Given the description of an element on the screen output the (x, y) to click on. 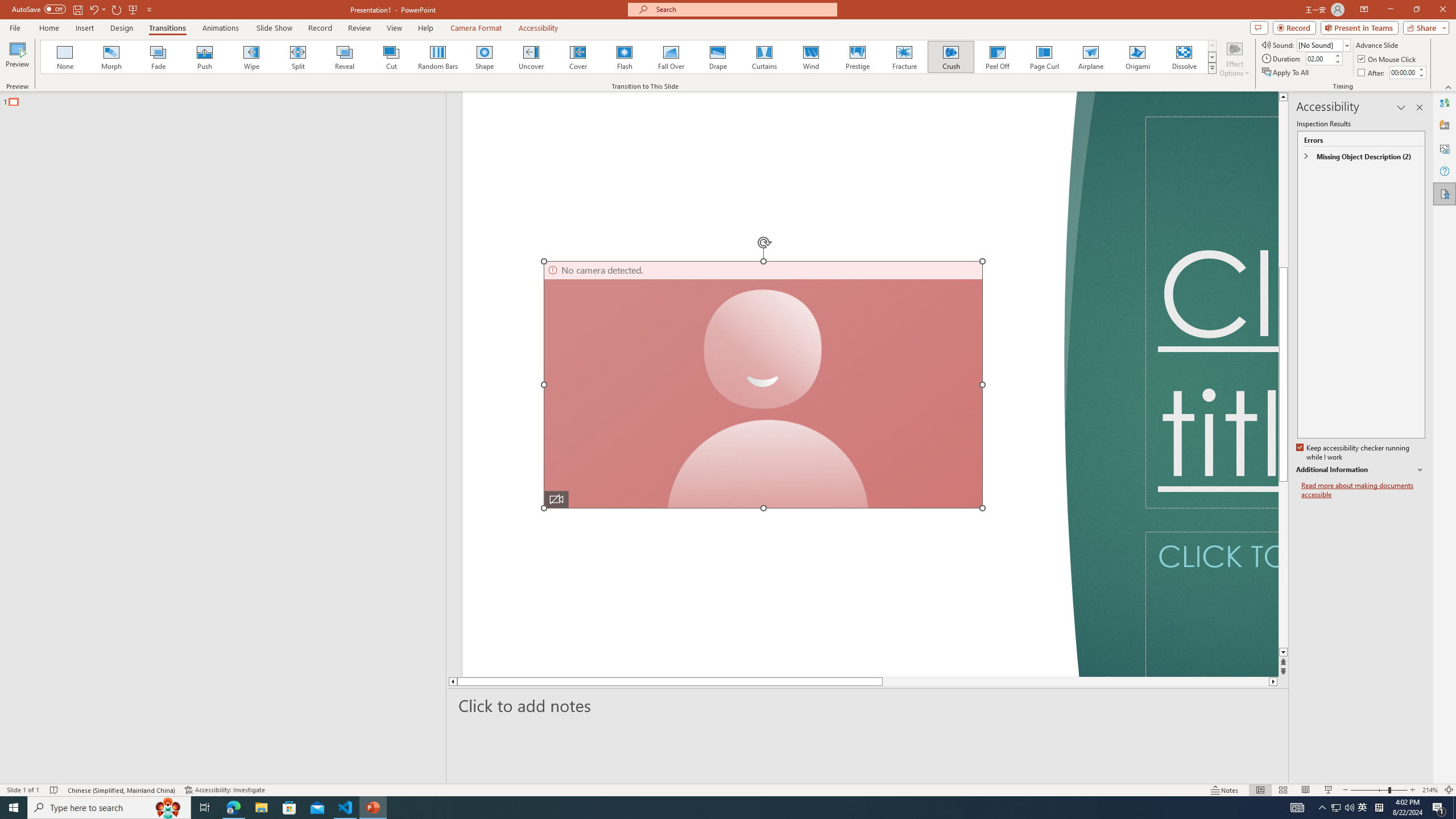
Sound (1324, 44)
Origami (1136, 56)
AutomationID: AnimationTransitionGallery (628, 56)
Camera Format (475, 28)
Outline (227, 99)
None (65, 56)
Read more about making documents accessible (1363, 489)
Morph (111, 56)
Subtitle TextBox (1211, 603)
Wind (810, 56)
